Given the description of an element on the screen output the (x, y) to click on. 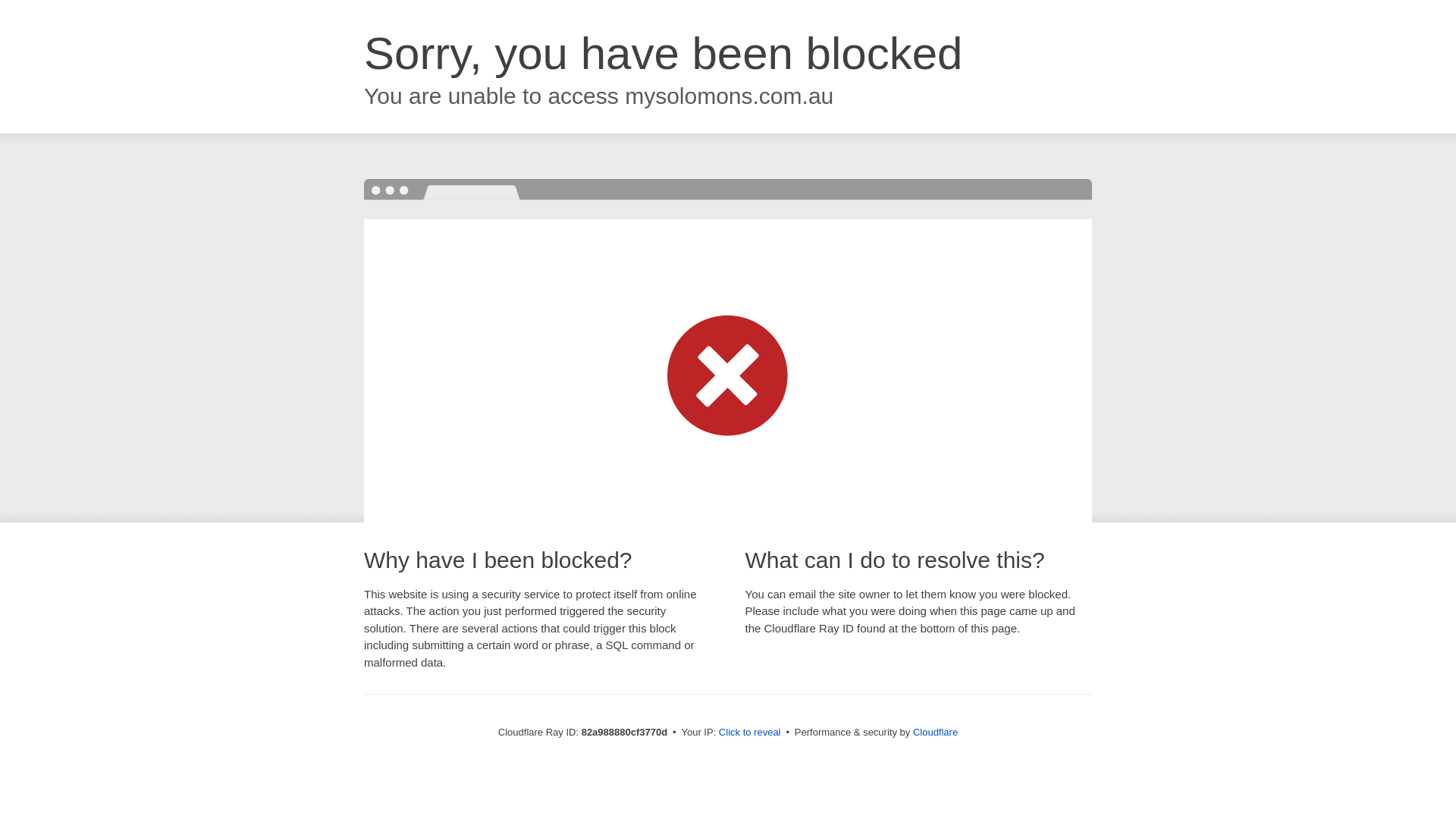
Click to reveal Element type: text (749, 732)
Cloudflare Element type: text (935, 731)
